Given the description of an element on the screen output the (x, y) to click on. 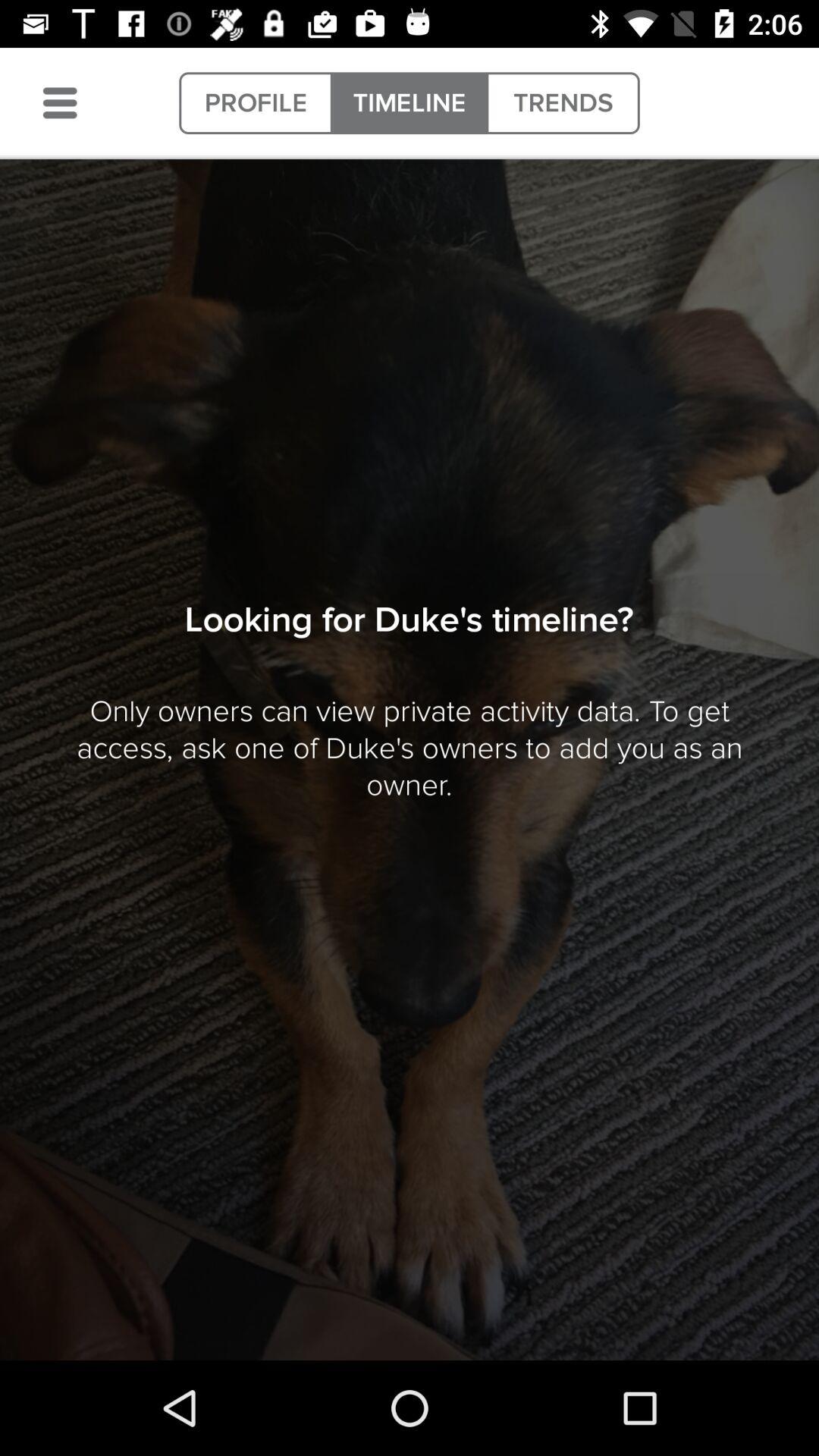
choose the icon next to the timeline icon (562, 103)
